Given the description of an element on the screen output the (x, y) to click on. 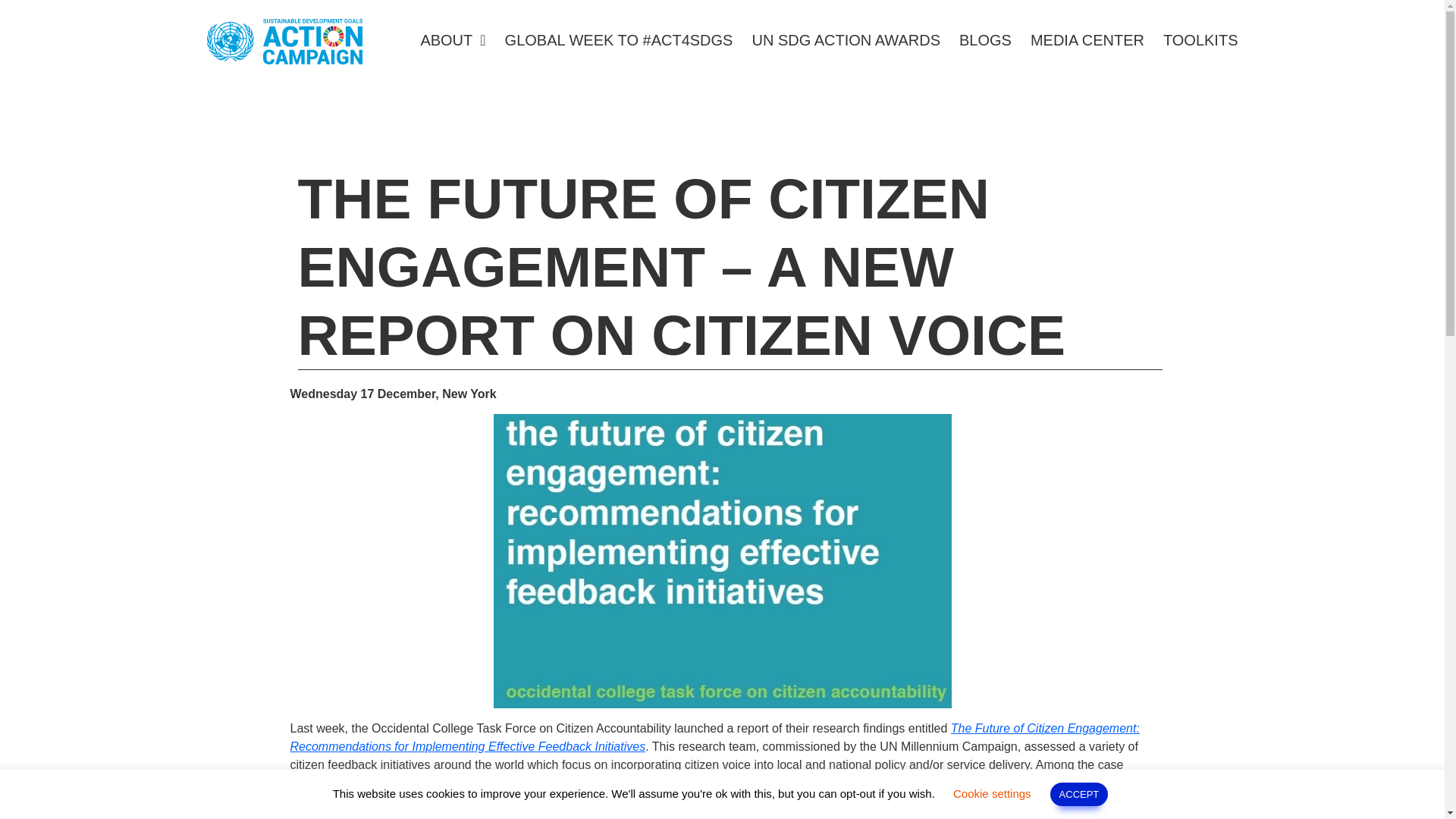
TOOLKITS (1201, 69)
ABOUT (452, 85)
UN SDG ACTION AWARDS (845, 74)
BLOGS (985, 71)
MEDIA CENTER (1087, 70)
